Given the description of an element on the screen output the (x, y) to click on. 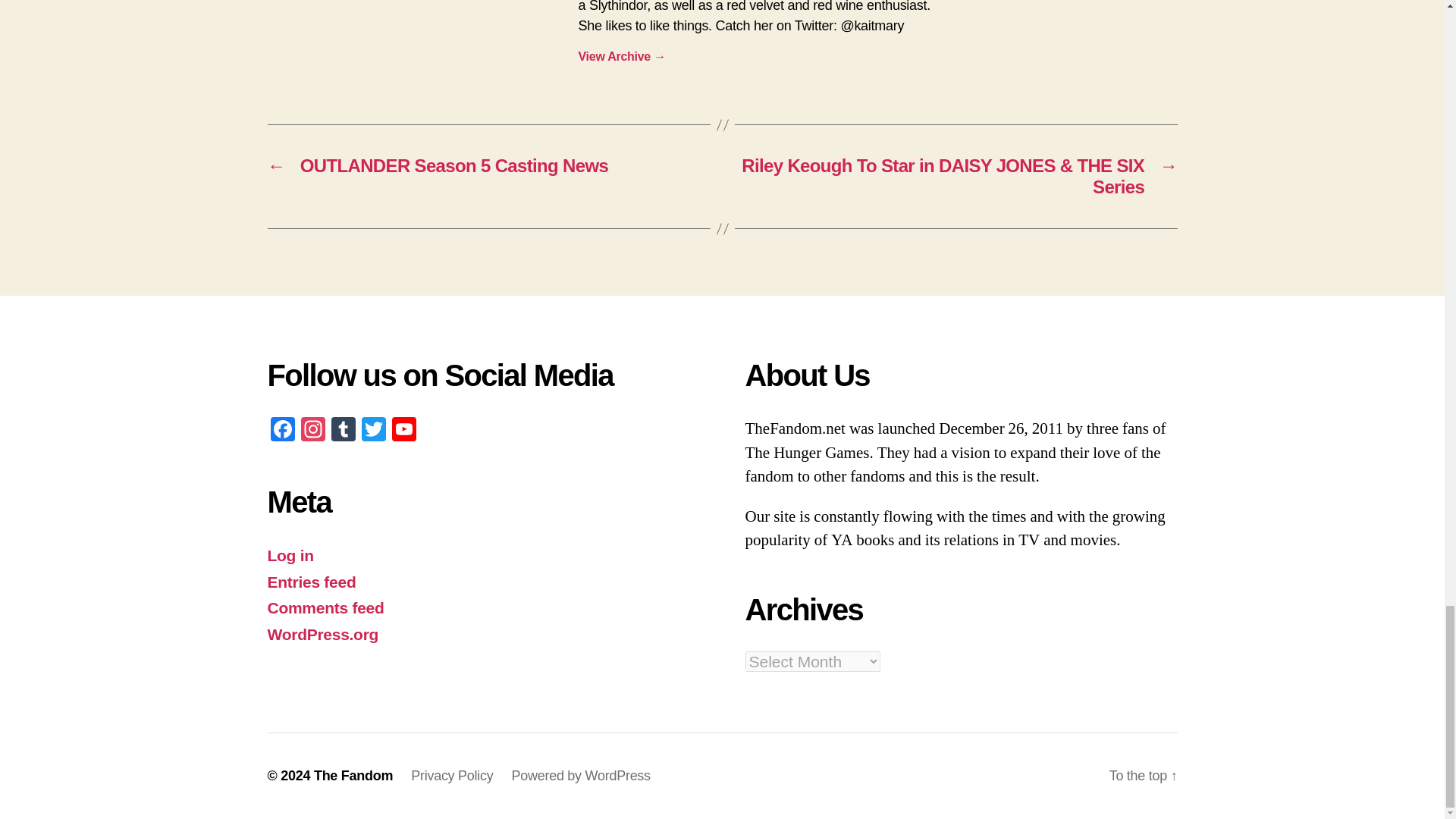
YouTube Channel (403, 430)
Facebook (281, 430)
Instagram (312, 430)
Twitter (373, 430)
Tumblr (342, 430)
